Given the description of an element on the screen output the (x, y) to click on. 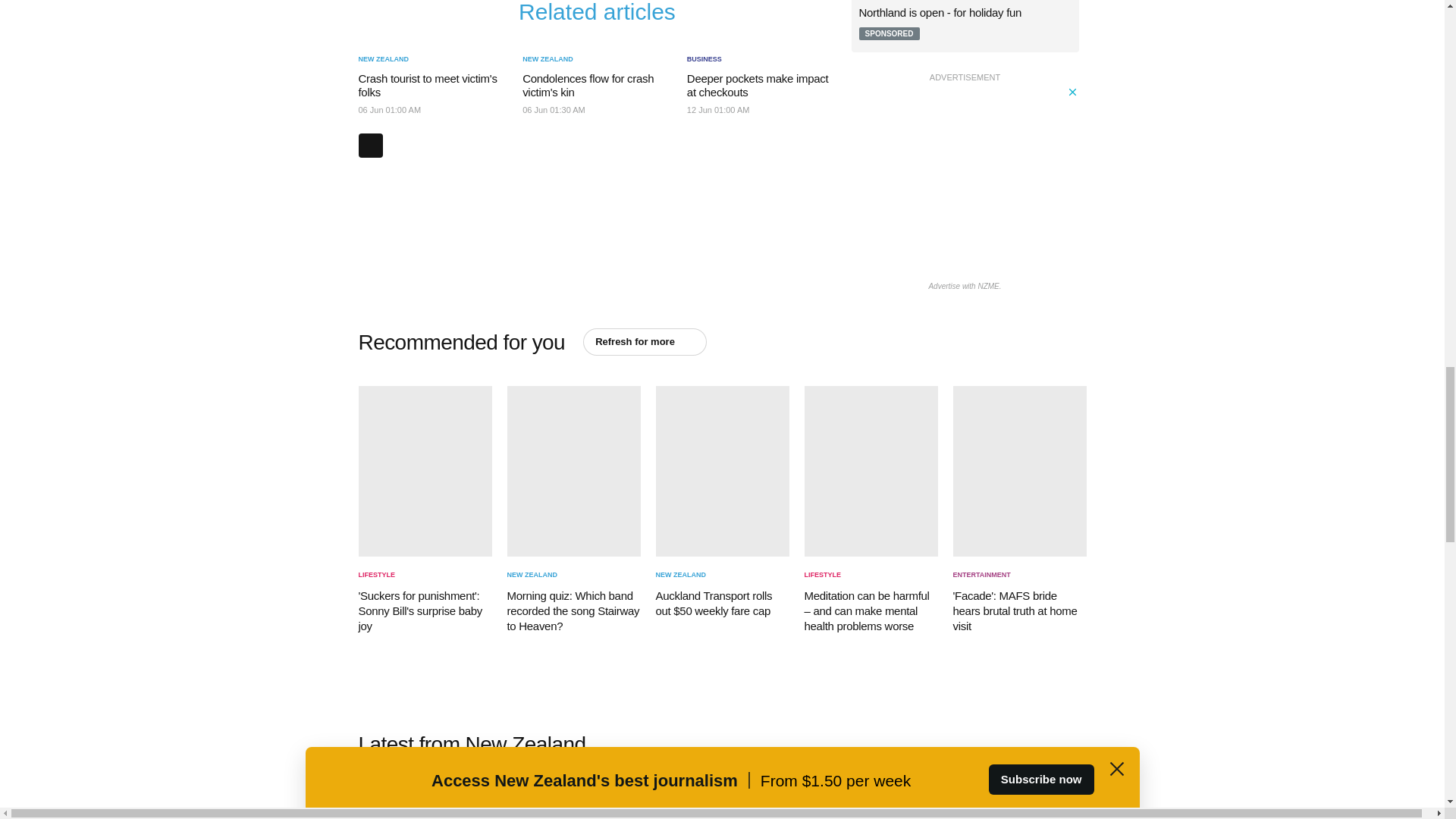
3rd party ad content (964, 180)
